Given the description of an element on the screen output the (x, y) to click on. 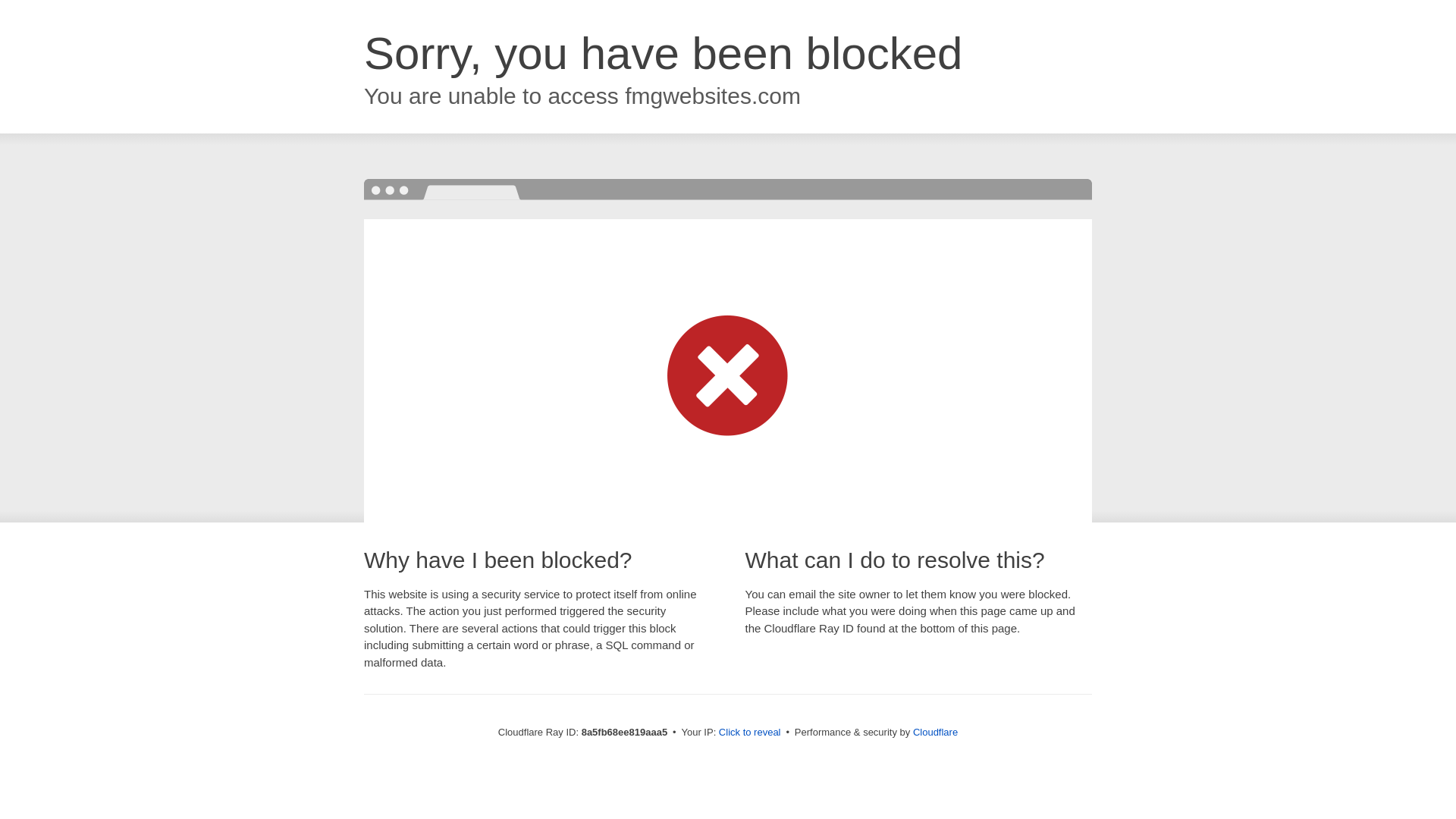
Cloudflare (935, 731)
Click to reveal (749, 732)
